Given the description of an element on the screen output the (x, y) to click on. 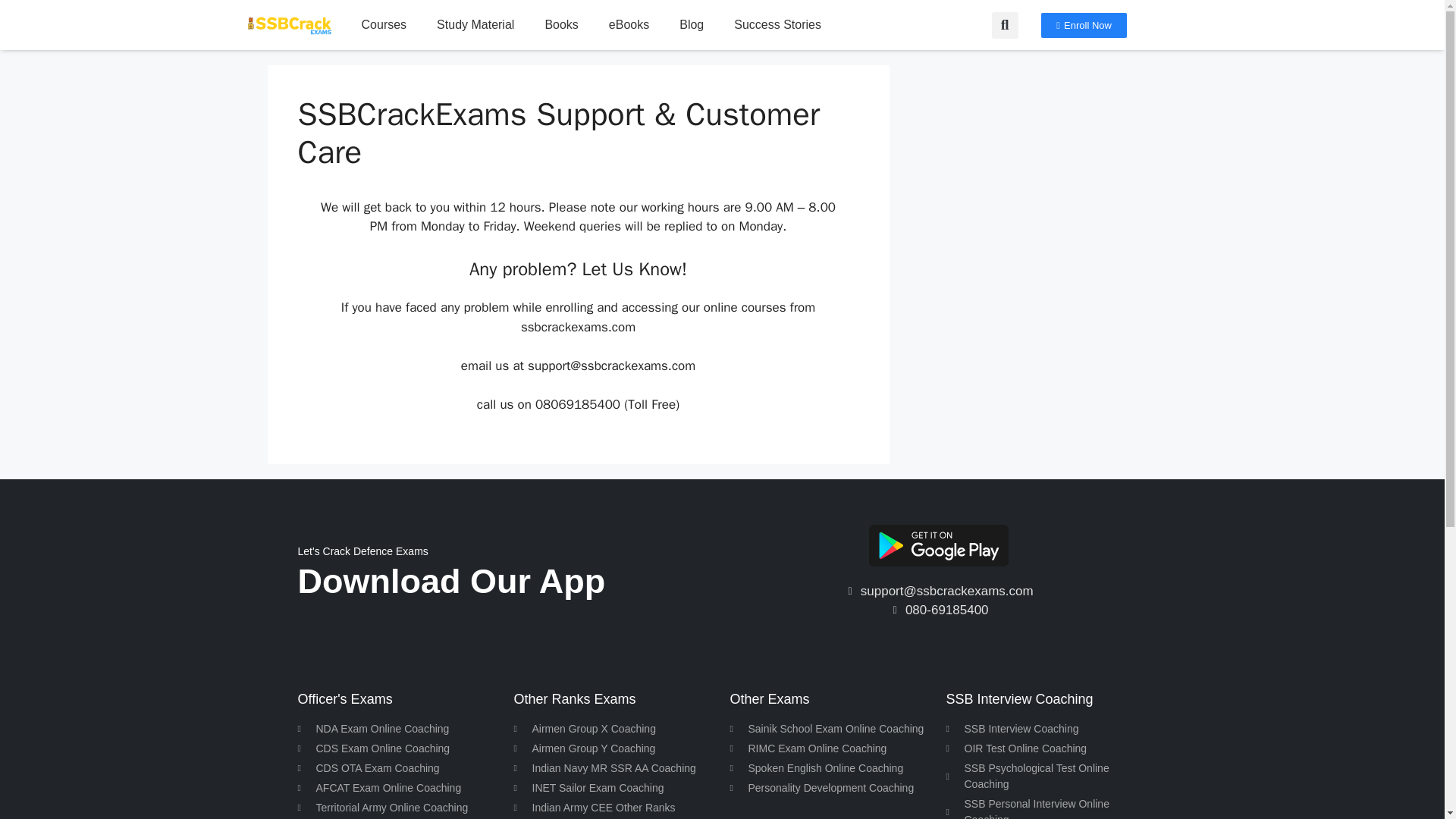
Study Material (475, 24)
Books (560, 24)
Courses (384, 24)
eBooks (628, 24)
Blog (691, 24)
Success Stories (777, 24)
